Given the description of an element on the screen output the (x, y) to click on. 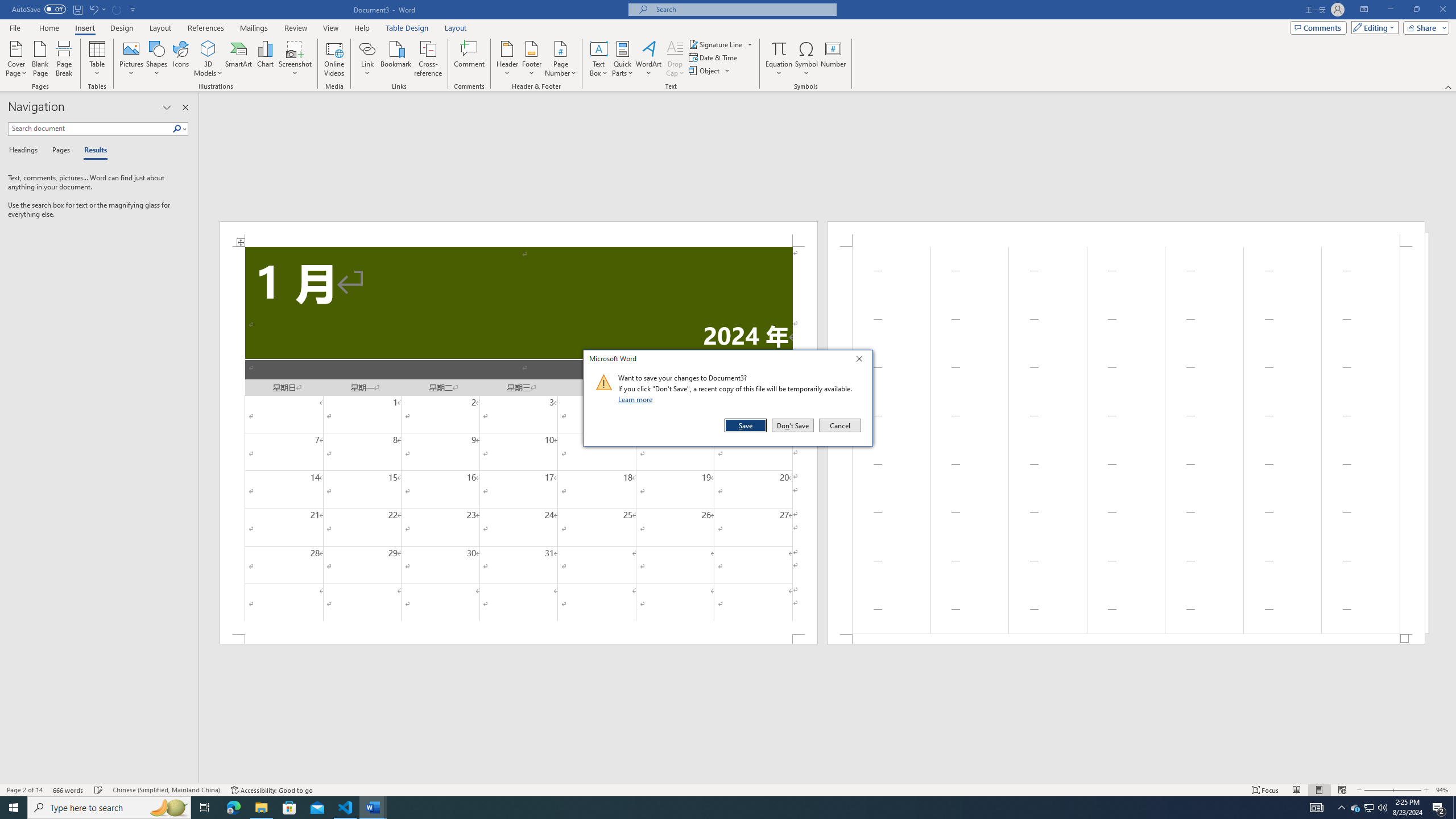
SmartArt... (238, 58)
Signature Line (716, 44)
Shapes (156, 58)
